Given the description of an element on the screen output the (x, y) to click on. 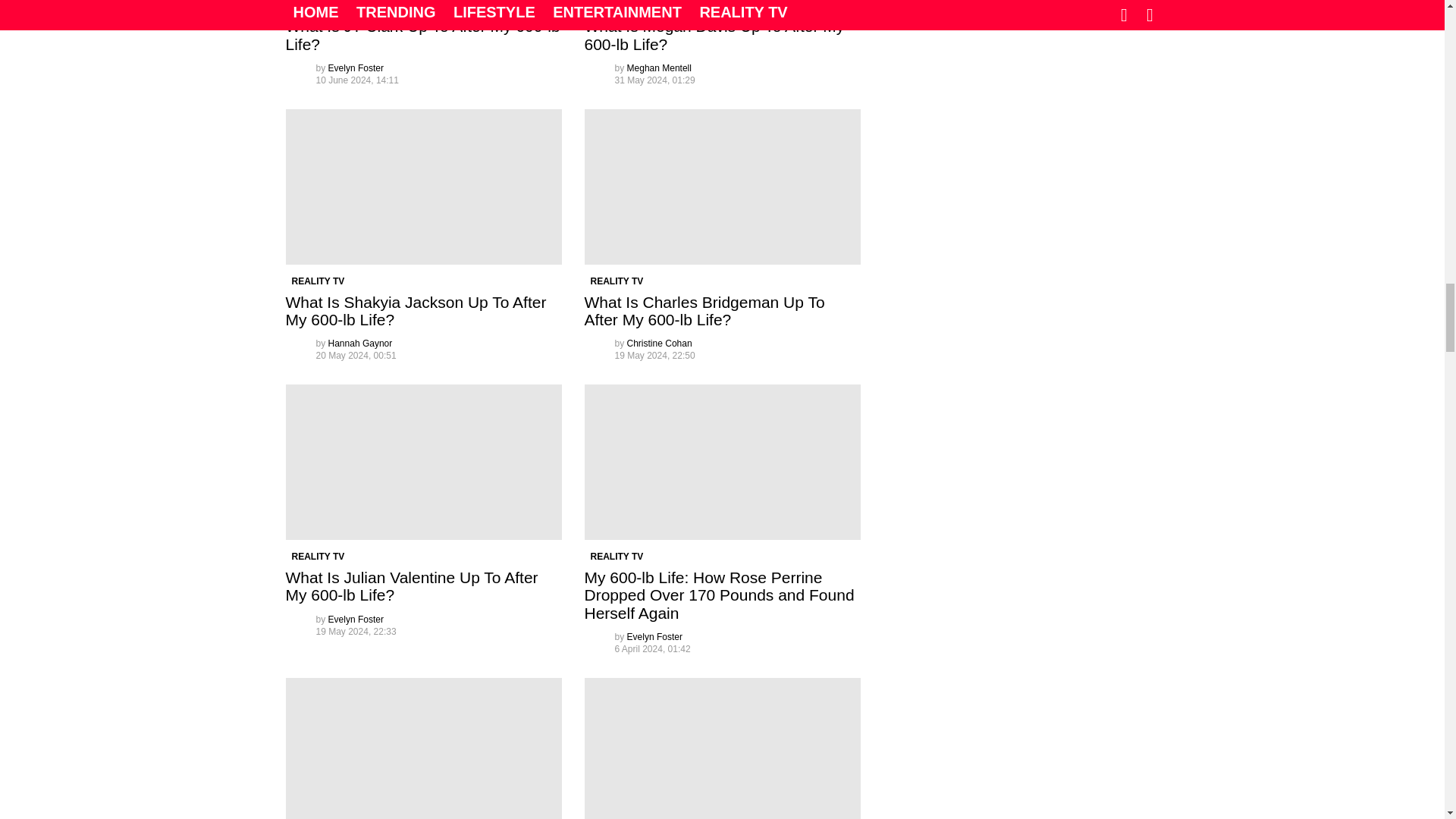
Posts by Meghan Mentell (659, 68)
What Is Shakyia Jackson Up To After My 600-lb Life? (422, 186)
Posts by Evelyn Foster (356, 68)
